Given the description of an element on the screen output the (x, y) to click on. 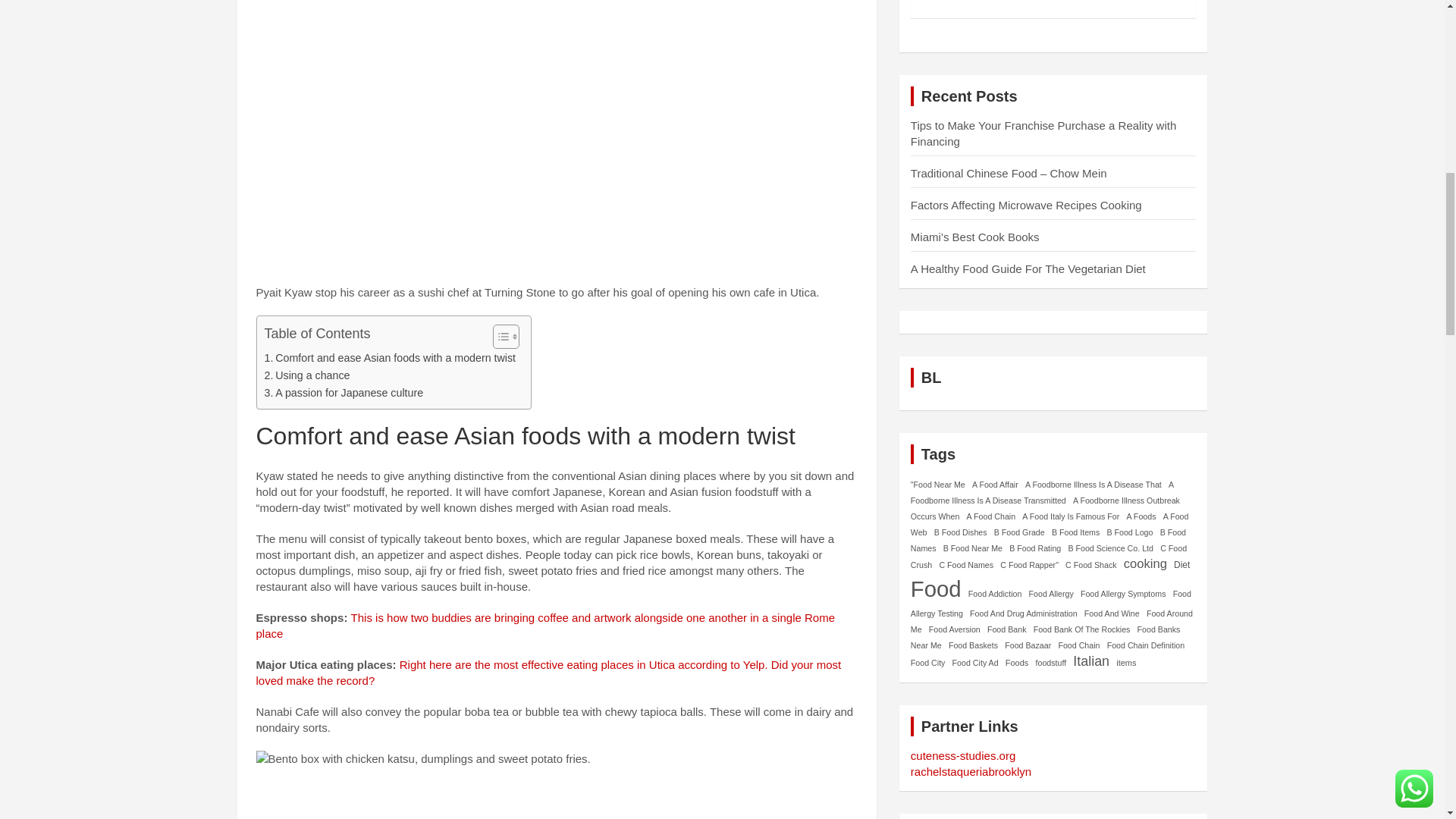
Using a chance (306, 375)
Comfort and ease Asian foods with a modern twist (389, 357)
A passion for Japanese culture (343, 392)
A passion for Japanese culture (343, 392)
Using a chance (306, 375)
Comfort and ease Asian foods with a modern twist (389, 357)
